Given the description of an element on the screen output the (x, y) to click on. 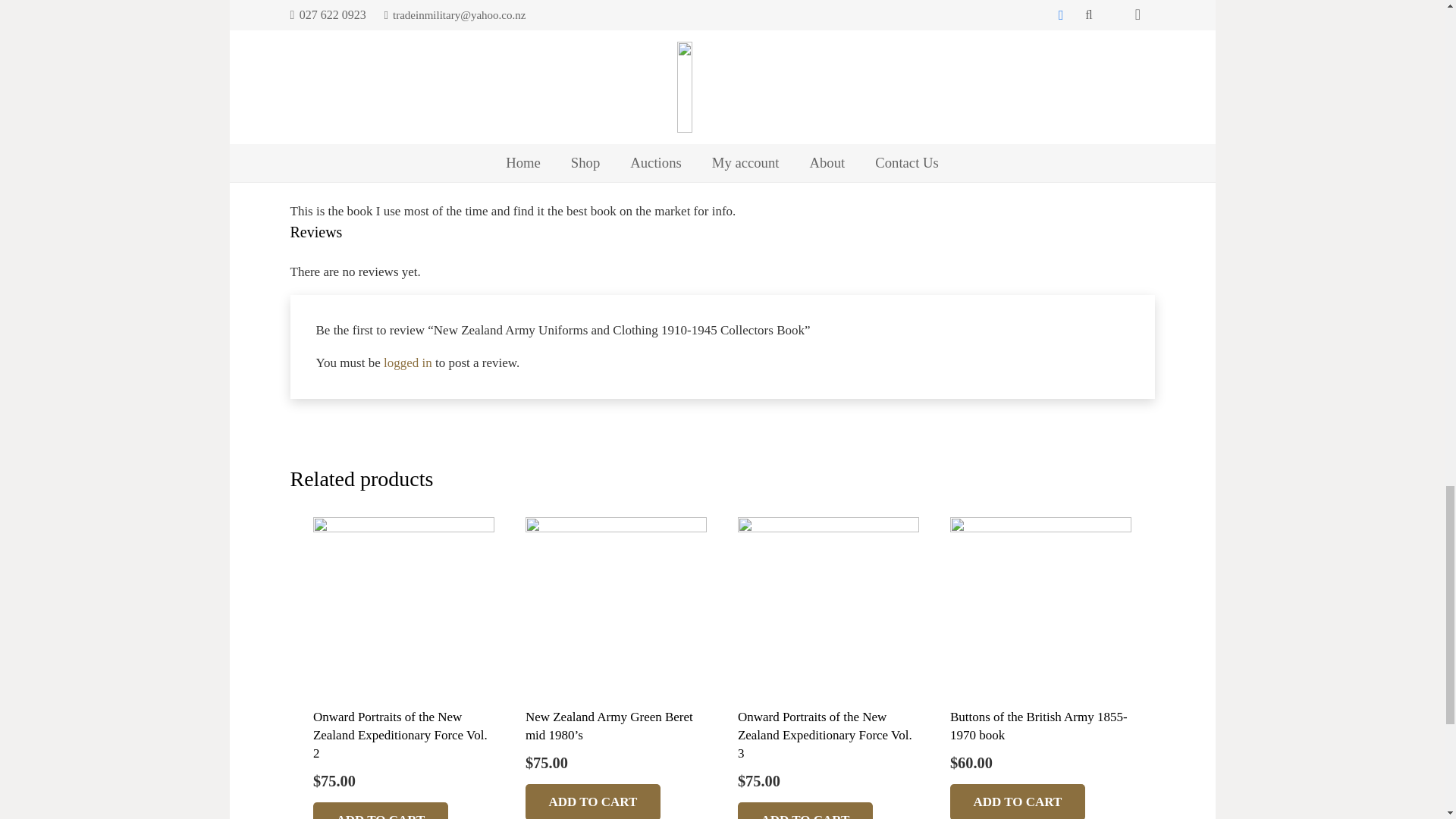
ADD TO CART (593, 801)
ADD TO CART (805, 810)
ADD TO CART (1017, 801)
ADD TO CART (380, 810)
logged in (408, 362)
